Given the description of an element on the screen output the (x, y) to click on. 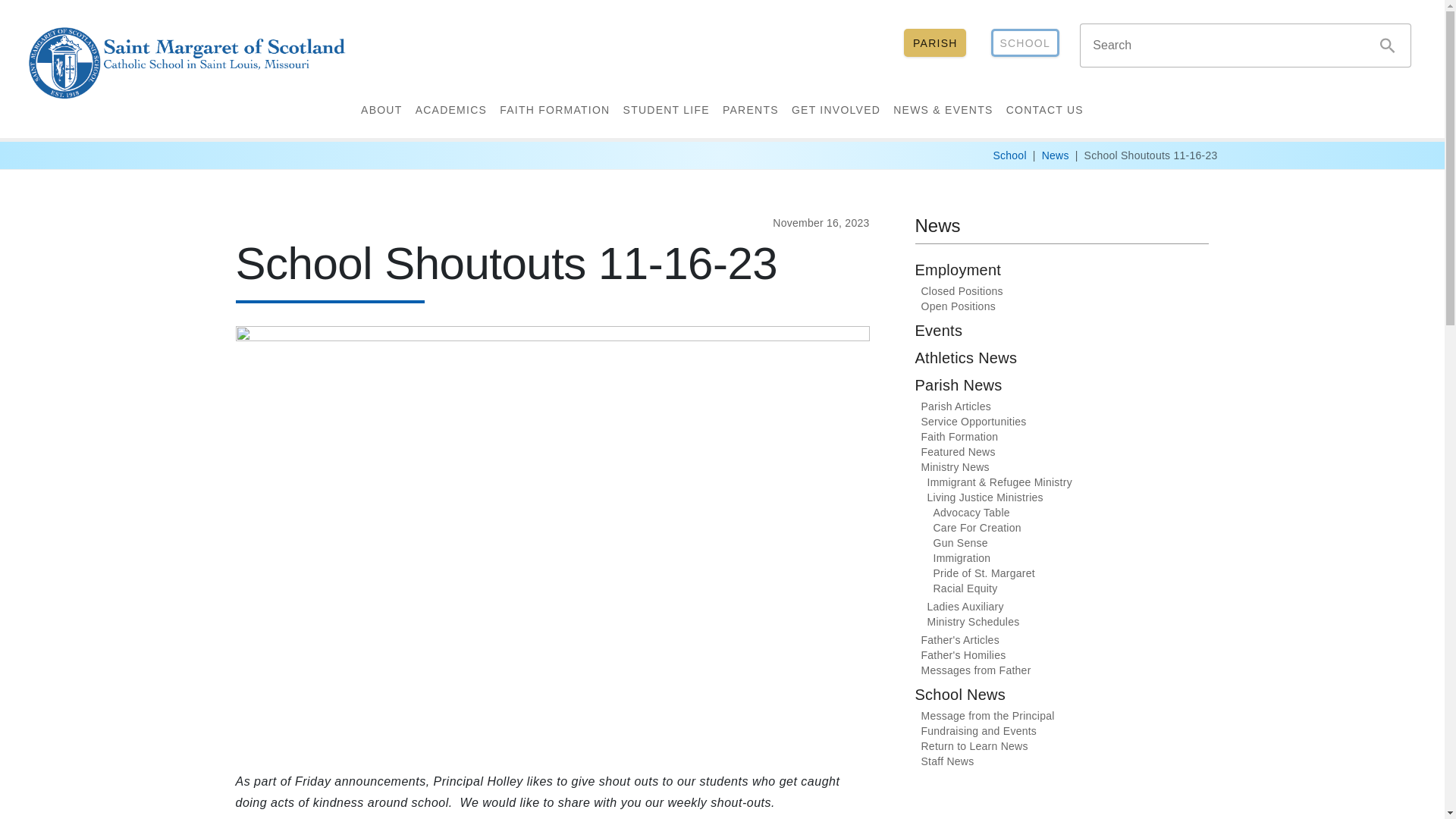
PARENTS (750, 109)
SCHOOL (1025, 42)
News (1055, 155)
ABOUT (381, 109)
About (381, 109)
FAITH FORMATION (554, 109)
PARISH (935, 42)
School (1009, 155)
GET INVOLVED (836, 109)
Search (1387, 45)
CONTACT US (1044, 109)
Academics (451, 109)
Faith Formation (554, 109)
Employment (1061, 272)
ACADEMICS (451, 109)
